Given the description of an element on the screen output the (x, y) to click on. 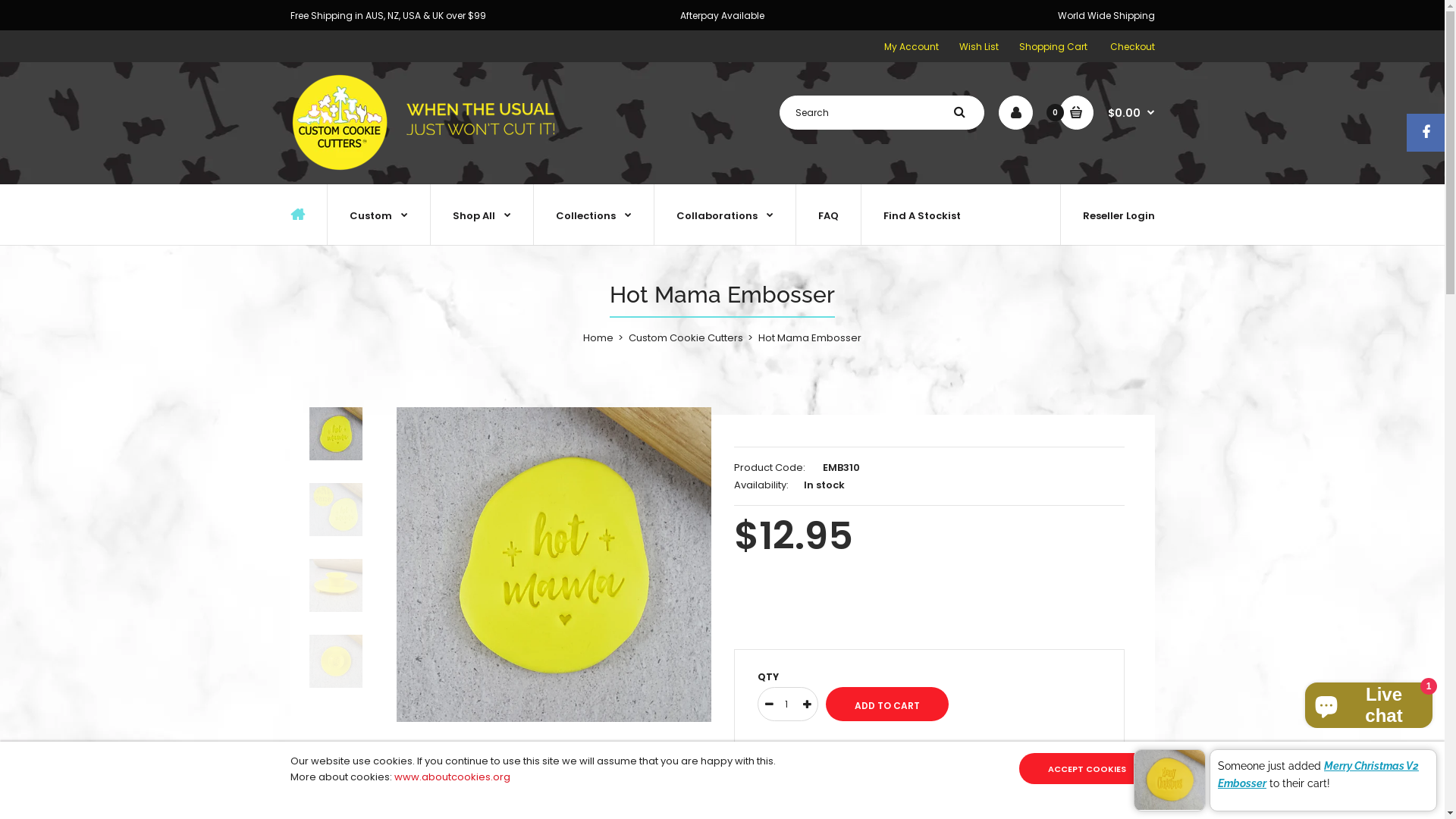
FAQ Element type: text (828, 214)
Wish List Element type: text (977, 46)
Collections Element type: text (593, 214)
Find A Stockist Element type: text (921, 214)
www.aboutcookies.org Element type: text (452, 776)
Shopping Cart Element type: text (1053, 46)
Custom Cookie Cutters Element type: hover (425, 121)
Collaborations Element type: text (723, 214)
Custom Cookie Cutters Element type: text (685, 337)
0
$0.00 Element type: text (1106, 112)
Home Element type: text (598, 337)
Custom Cookie Cutters Element type: hover (425, 167)
Shopify online store chat Element type: hover (1368, 702)
Checkout Element type: text (1132, 46)
Shop All Element type: text (481, 214)
Custom Element type: text (378, 214)
Add to cart Element type: text (886, 704)
My Account Element type: text (911, 46)
Reseller Login Element type: text (1107, 214)
ADD TO WISHLIST Element type: text (825, 763)
